Given the description of an element on the screen output the (x, y) to click on. 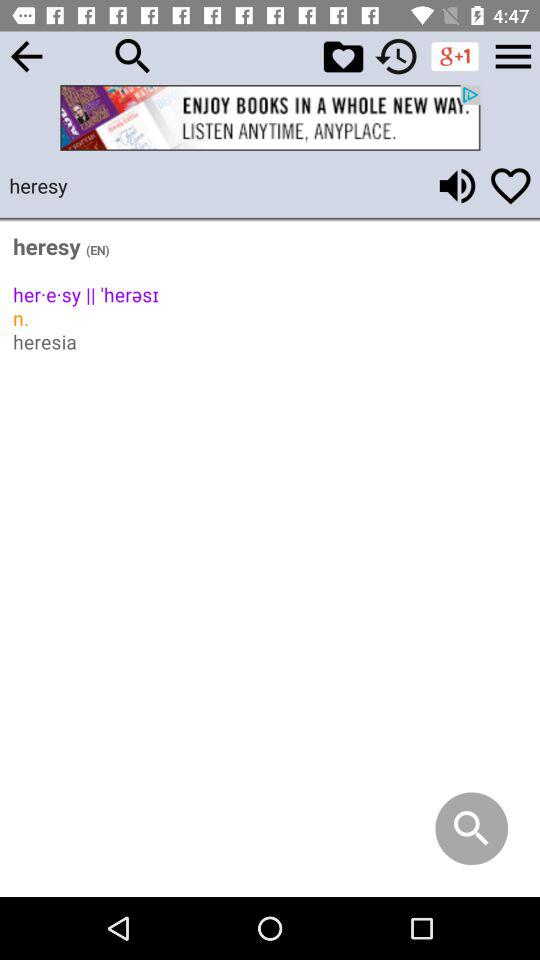
to go storage (513, 56)
